Given the description of an element on the screen output the (x, y) to click on. 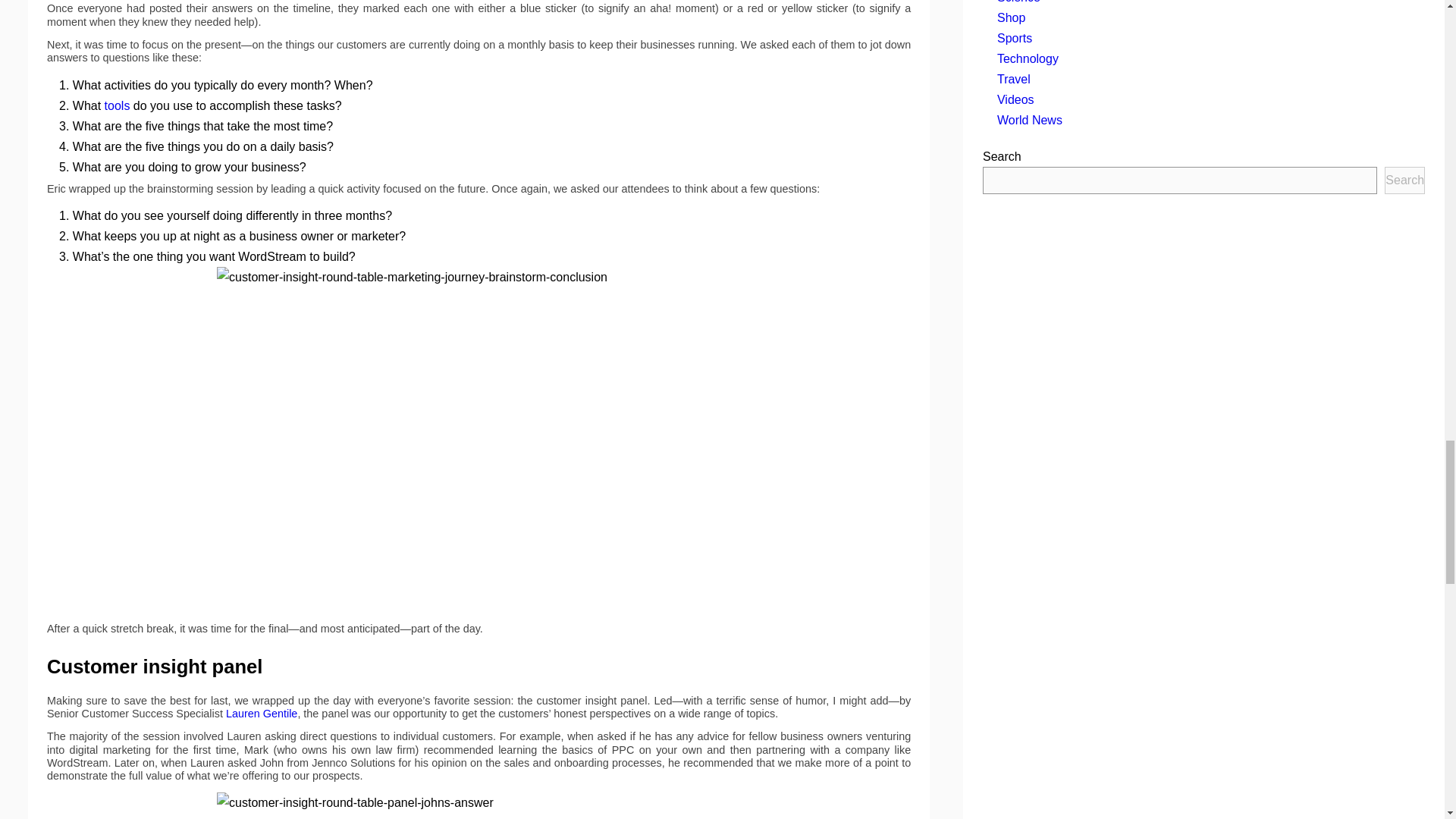
Lauren Gentile (261, 713)
tools (117, 105)
